Given the description of an element on the screen output the (x, y) to click on. 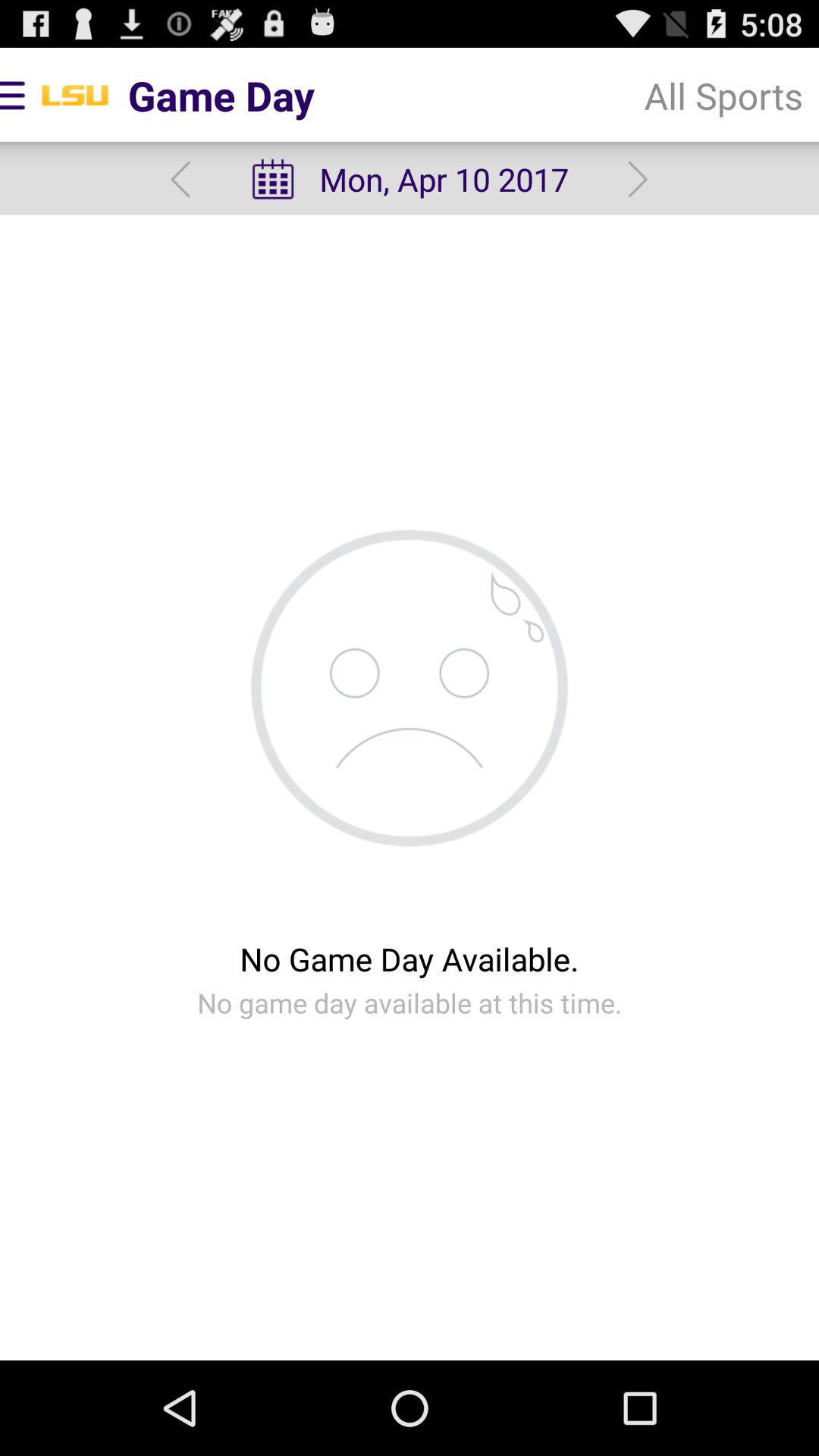
open the all sports icon (723, 95)
